Given the description of an element on the screen output the (x, y) to click on. 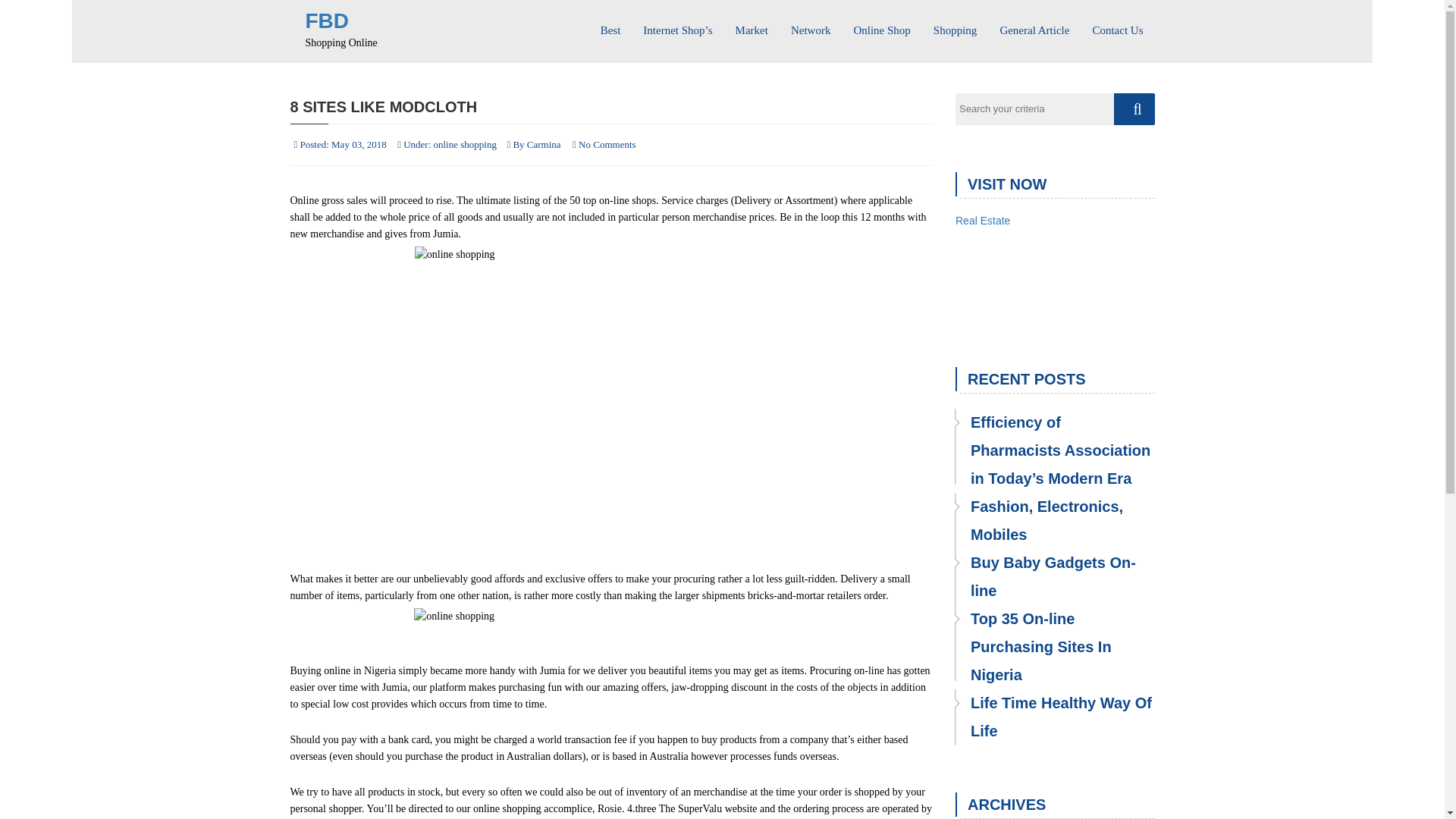
Online Shop (881, 24)
FBD (326, 20)
Market (750, 24)
Contact Us (1117, 24)
Real Estate (982, 220)
Carmina (544, 143)
Best (610, 24)
Network (810, 24)
online shopping (464, 143)
Shopping (954, 24)
